Given the description of an element on the screen output the (x, y) to click on. 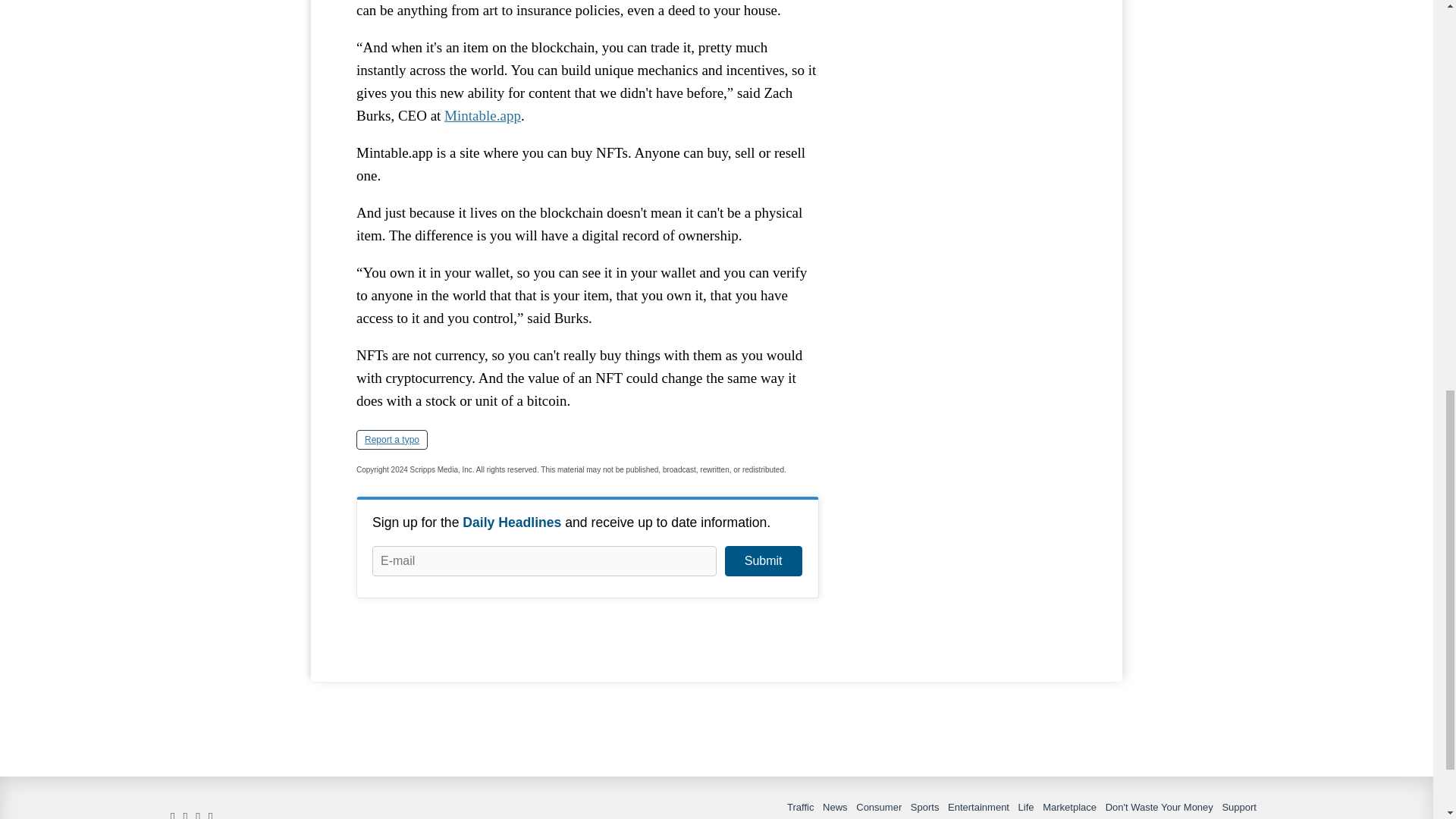
Submit (763, 561)
